Given the description of an element on the screen output the (x, y) to click on. 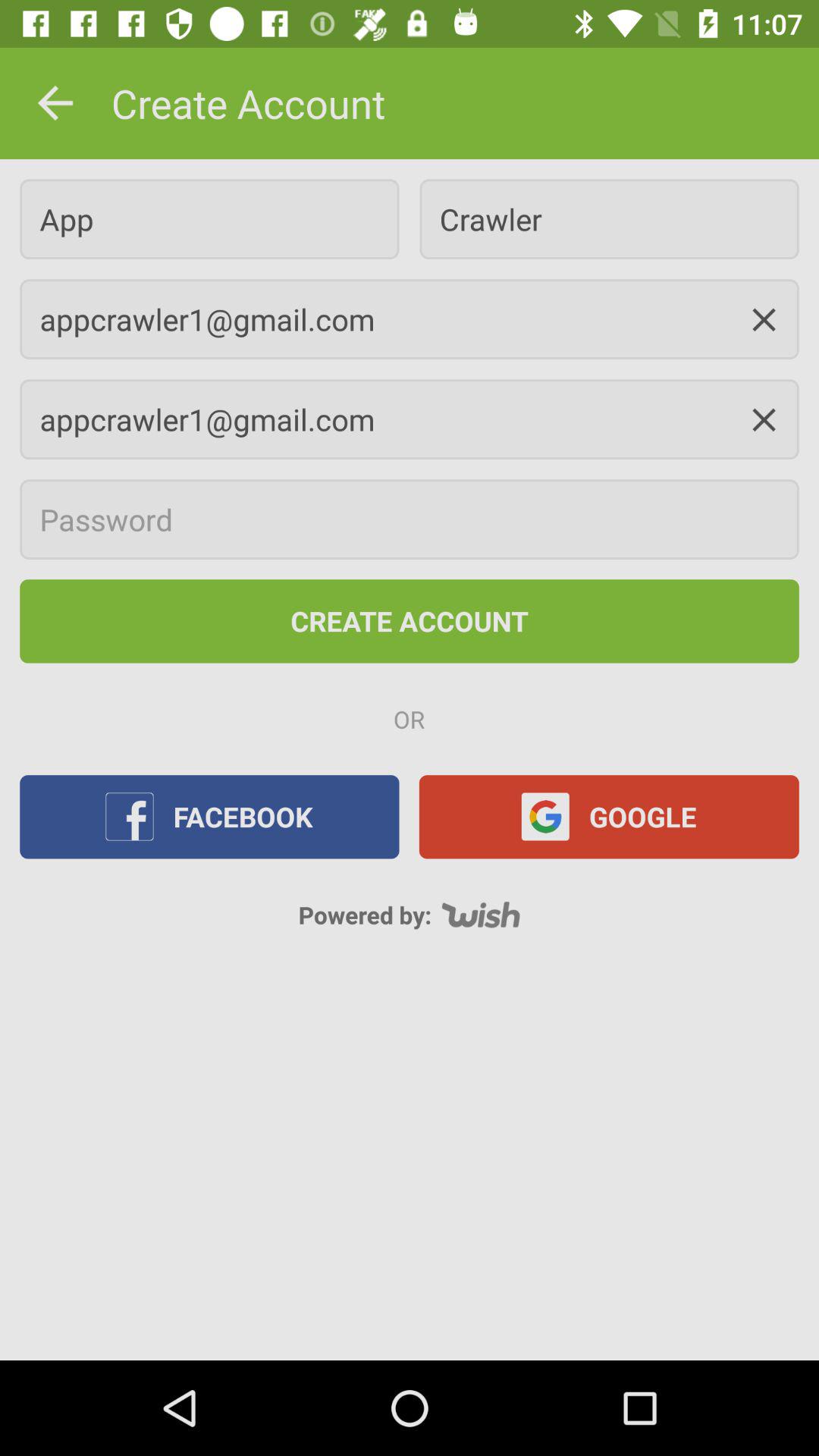
choose the crawler item (609, 219)
